Given the description of an element on the screen output the (x, y) to click on. 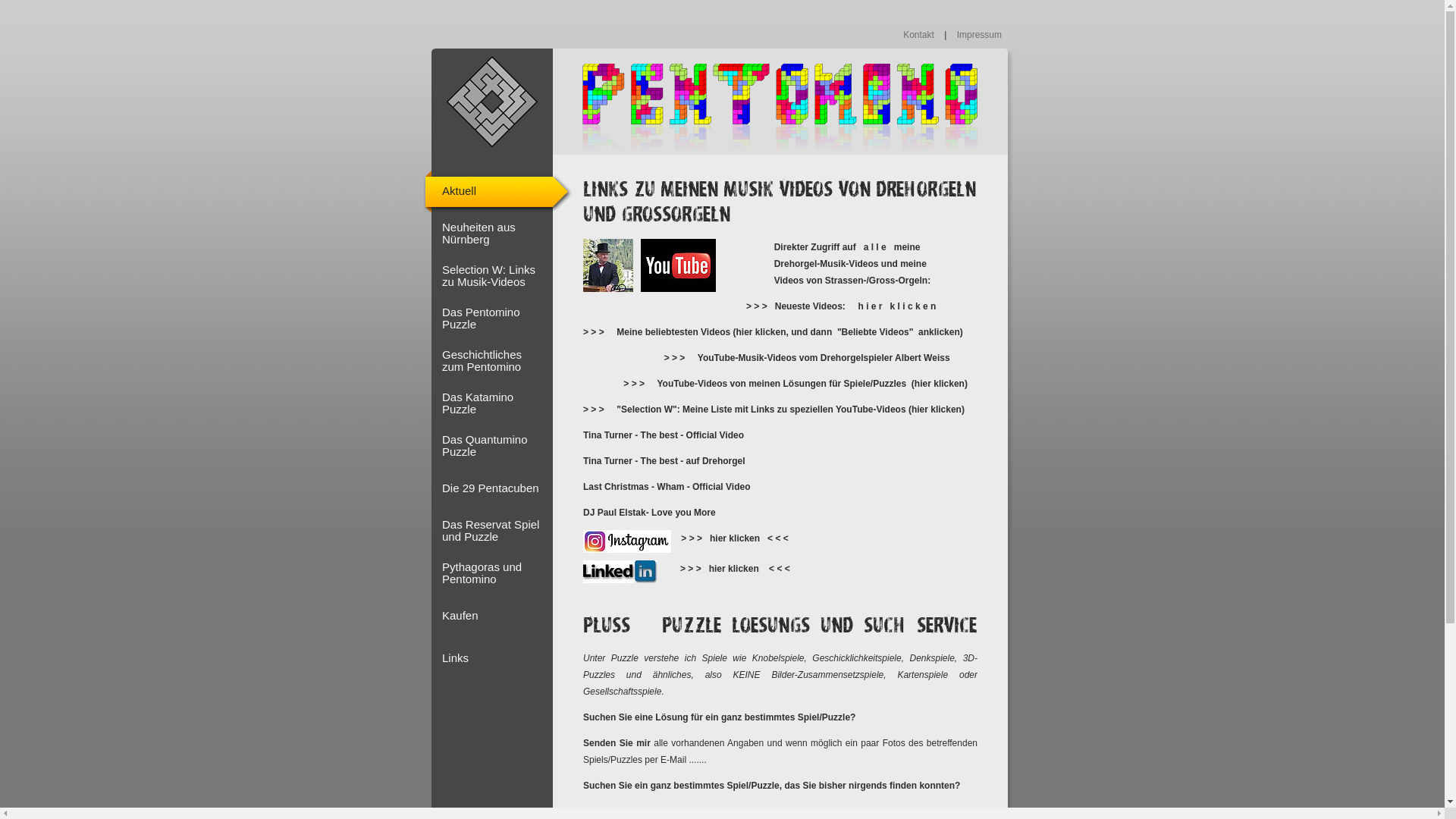
 > > >   hier klicken   < < <      Element type: text (739, 538)
DJ Paul Elstak- Love you More    Element type: text (653, 512)
Kaufen Element type: text (497, 615)
Das Quantumino Puzzle Element type: text (497, 445)
Die 29 Pentacuben Element type: text (497, 488)
Kontakt Element type: text (919, 34)
Das Reservat Spiel und Puzzle Element type: text (497, 530)
Selection W: Links zu Musik-Videos Element type: text (497, 275)
Last Christmas - Wham - Official Video  Element type: text (668, 486)
Das Katamino Puzzle Element type: text (497, 403)
Aktuell Element type: text (497, 190)
Links Element type: text (497, 658)
Geschichtliches zum Pentomino Element type: text (497, 360)
Tina Turner - The best - Official Video   Element type: text (666, 434)
Impressum Element type: text (979, 34)
      > > >   hier klicken    < < <          Element type: text (738, 568)
Tina Turner - The best - auf Drehorgel   Element type: text (666, 460)
Das Pentomino Puzzle Element type: text (497, 318)
Pythagoras und Pentomino Element type: text (497, 573)
> > >   Neueste Videos:     h i e r   k l i c k e n Element type: text (840, 306)
